Given the description of an element on the screen output the (x, y) to click on. 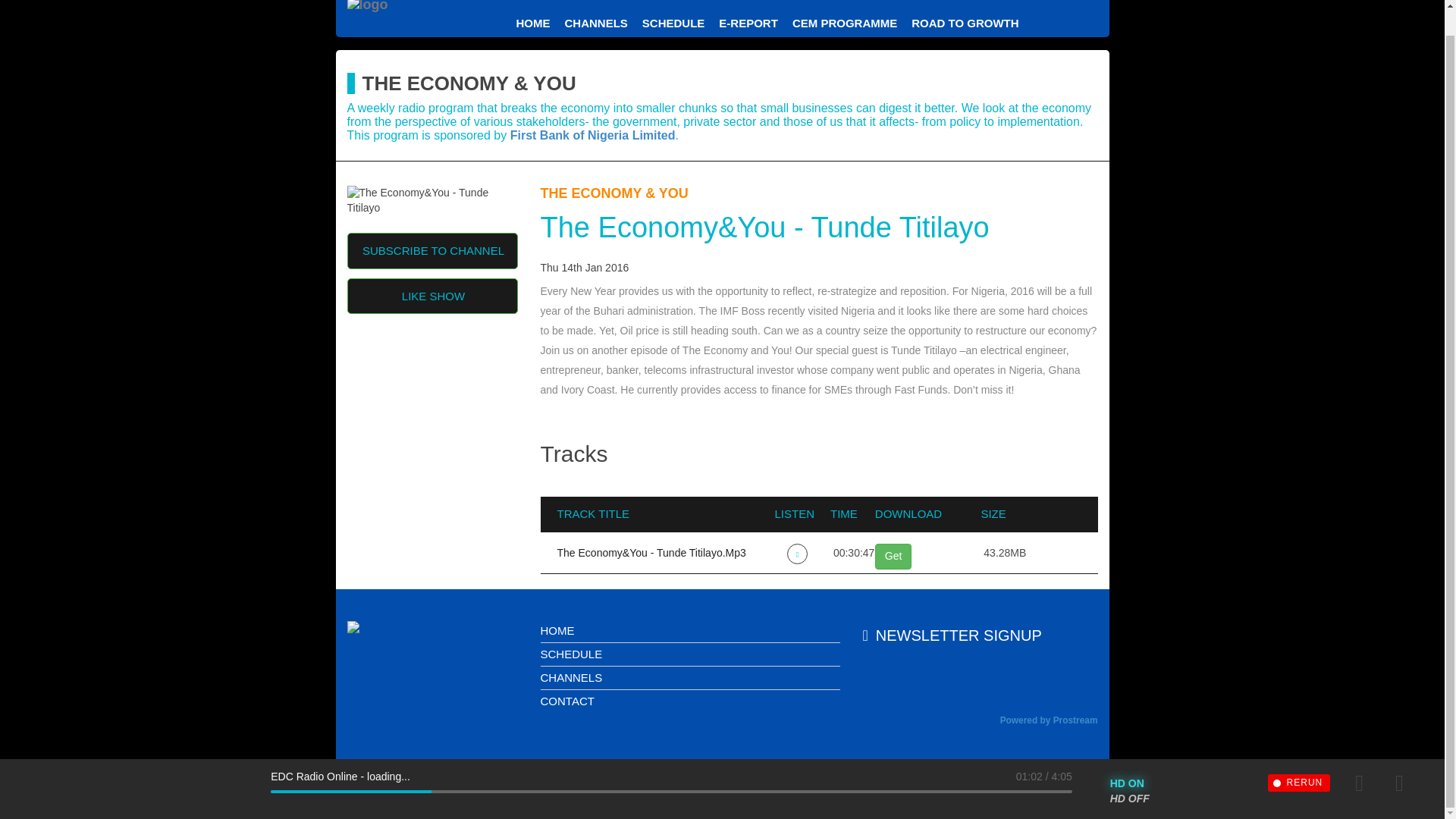
SUBSCRIBE TO CHANNEL (432, 250)
CHANNELS (571, 676)
CHANNELS (595, 22)
HOME (532, 22)
LIKE SHOW (432, 295)
Powered by Prostream (1048, 719)
Get (893, 556)
SCHEDULE (571, 653)
HOME (556, 630)
E-REPORT (748, 22)
ROAD TO GROWTH (965, 22)
CEM PROGRAMME (844, 22)
First Bank of Nigeria Limited (593, 134)
SCHEDULE (673, 22)
CONTACT (567, 700)
